Given the description of an element on the screen output the (x, y) to click on. 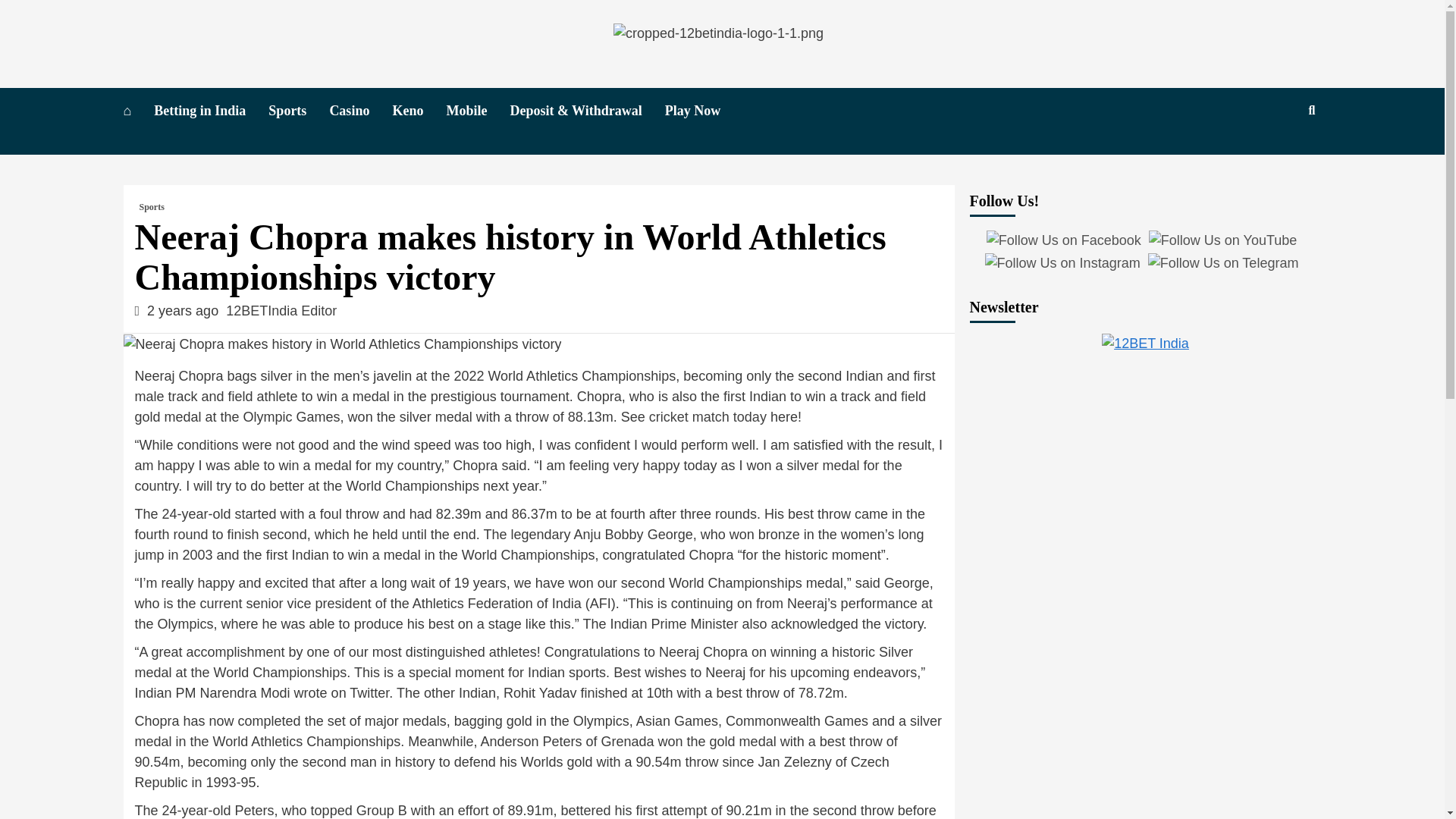
Follow Us on Instagram (1062, 263)
Play Now (704, 110)
Casino (360, 110)
Mobile (477, 110)
12BETIndia Editor (280, 310)
Follow Us on Facebook (1064, 240)
Keno (418, 110)
Follow Us on YouTube (1222, 240)
12BET India (1145, 343)
Betting in India (210, 110)
